Given the description of an element on the screen output the (x, y) to click on. 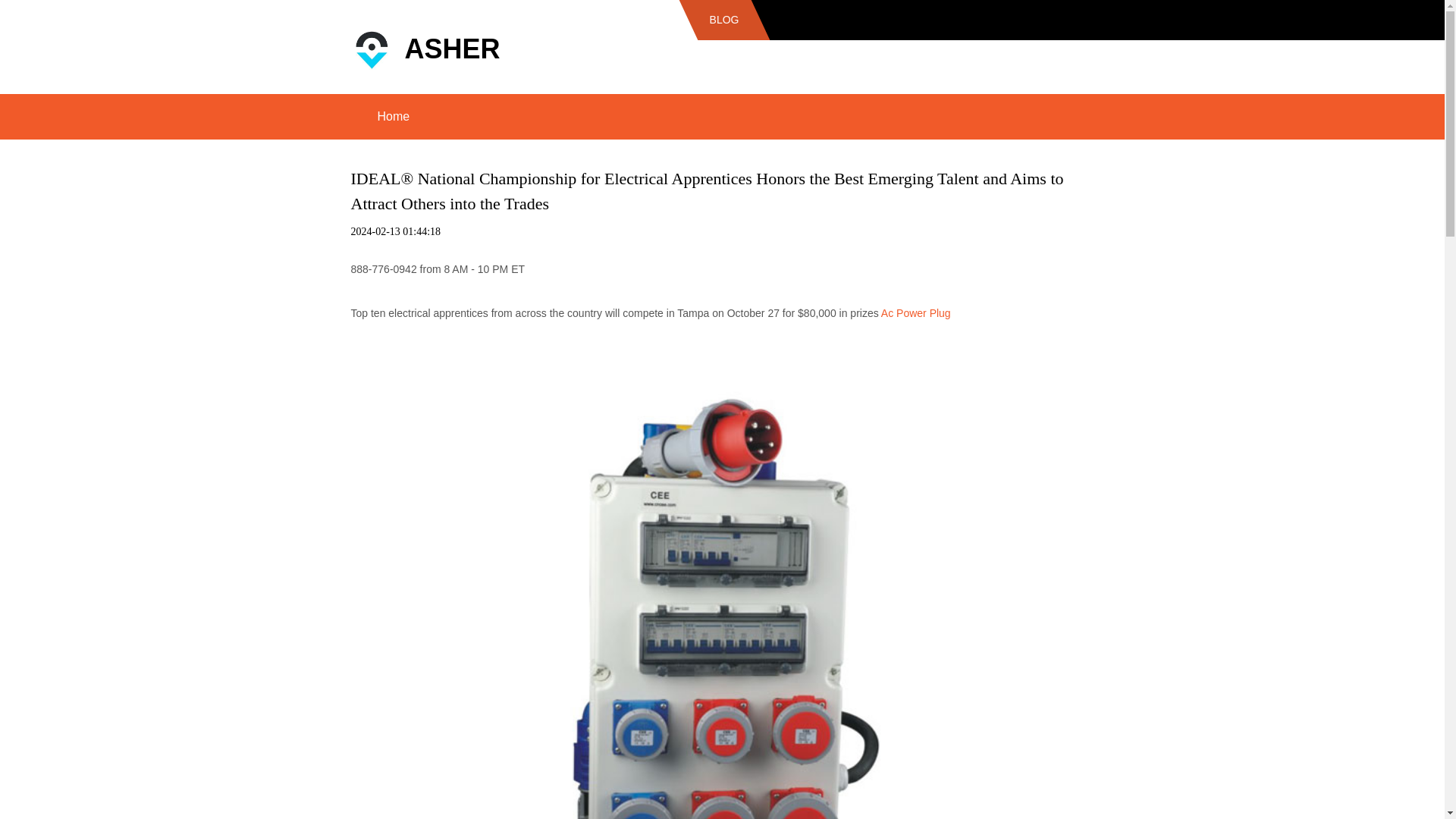
Home (392, 116)
Ac Power Plug (915, 313)
